Given the description of an element on the screen output the (x, y) to click on. 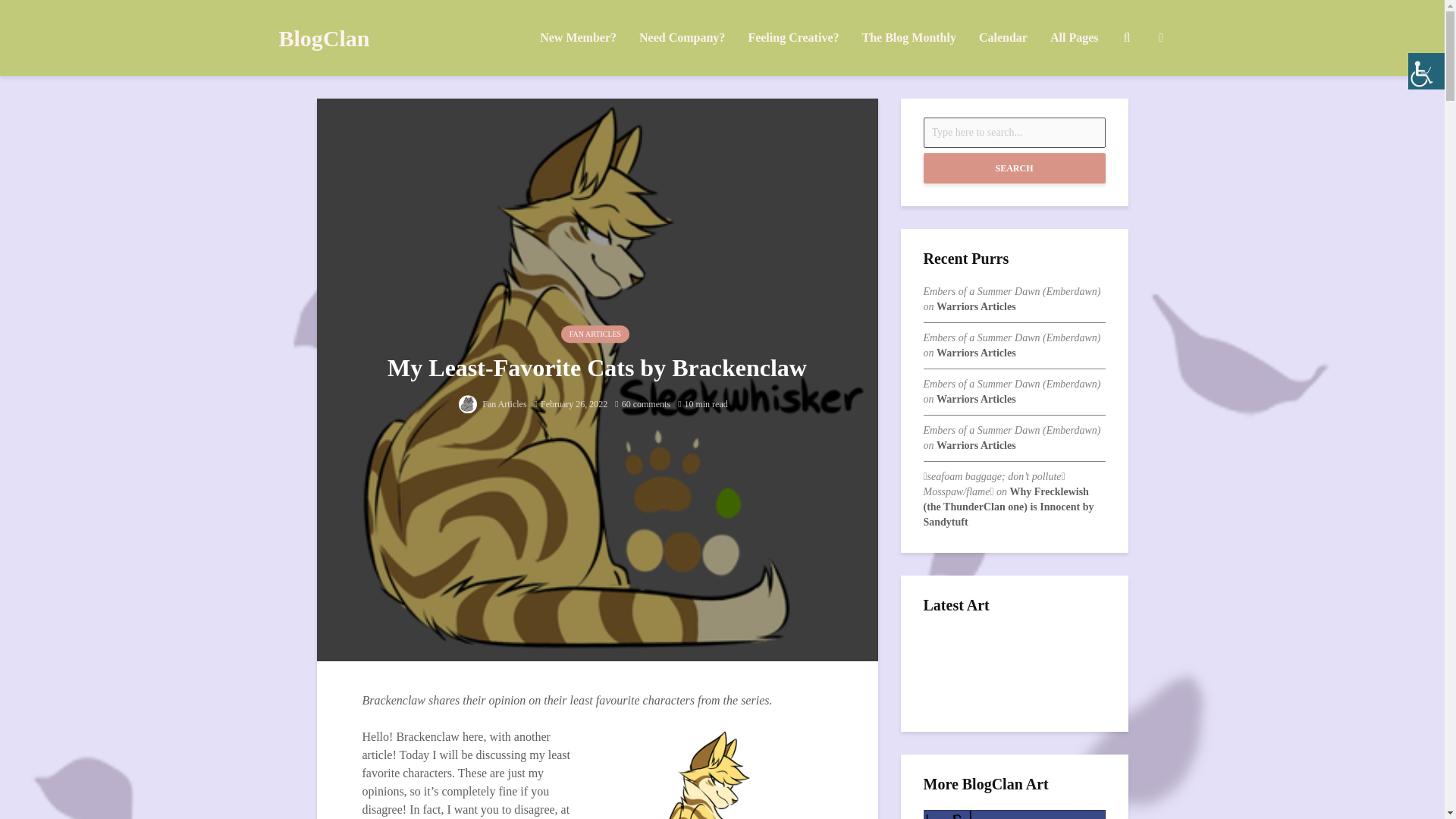
Koipaw by Swiftpaw (1013, 685)
New Member? (577, 37)
Swiftpaw's Purr by Swiftpaw (1013, 670)
Feeling Creative? (793, 37)
BlogClan (324, 37)
Need Company? (681, 37)
The Blog Monthly (908, 37)
My OC Sandytuft by Sandytuft (1013, 655)
